Given the description of an element on the screen output the (x, y) to click on. 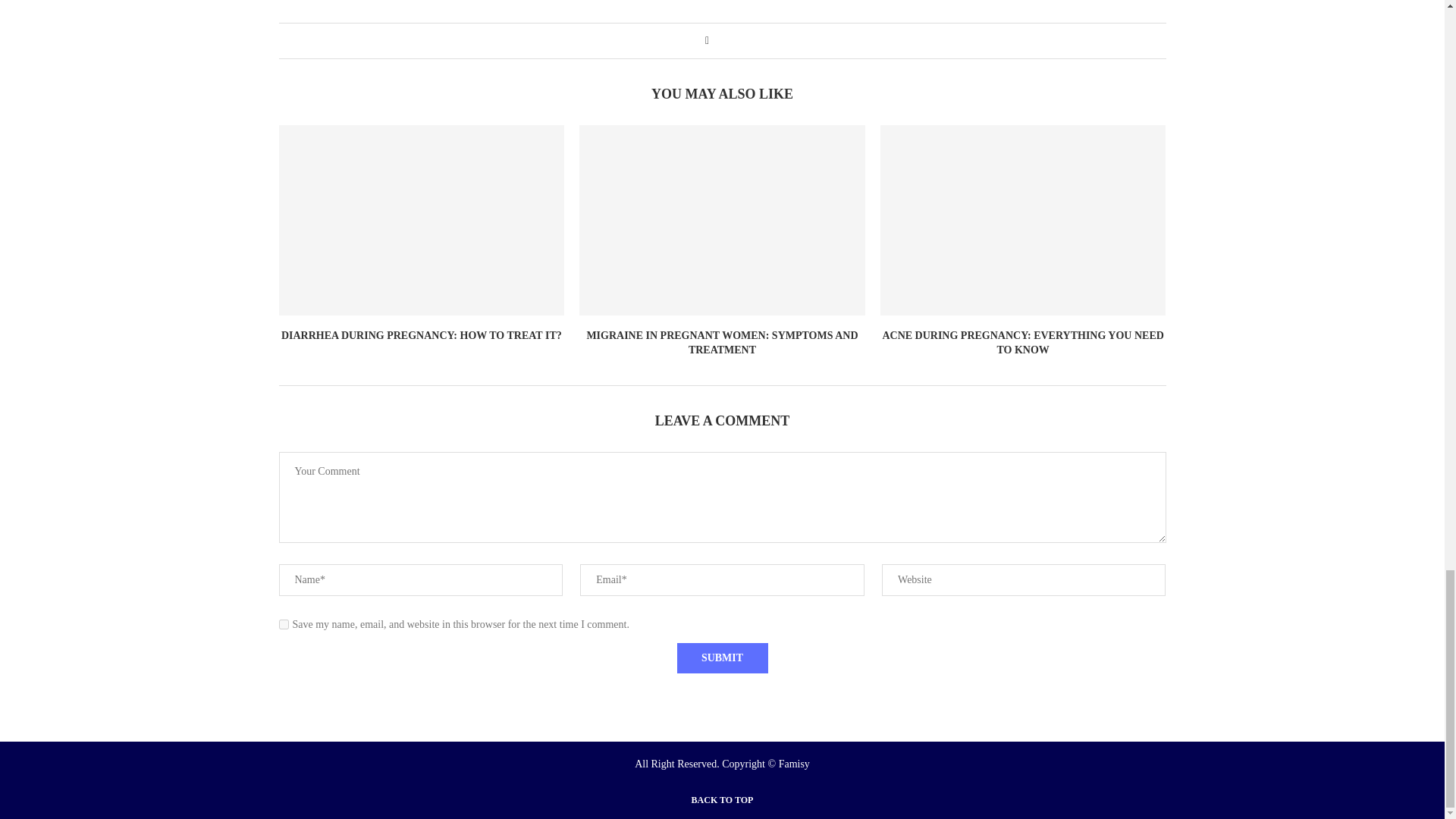
Migraine in pregnant women: Symptoms and treatment (721, 220)
Diarrhea during pregnancy: how to treat it? (421, 220)
Submit (722, 657)
Acne during pregnancy: Everything you need to know (1023, 220)
yes (283, 624)
